Given the description of an element on the screen output the (x, y) to click on. 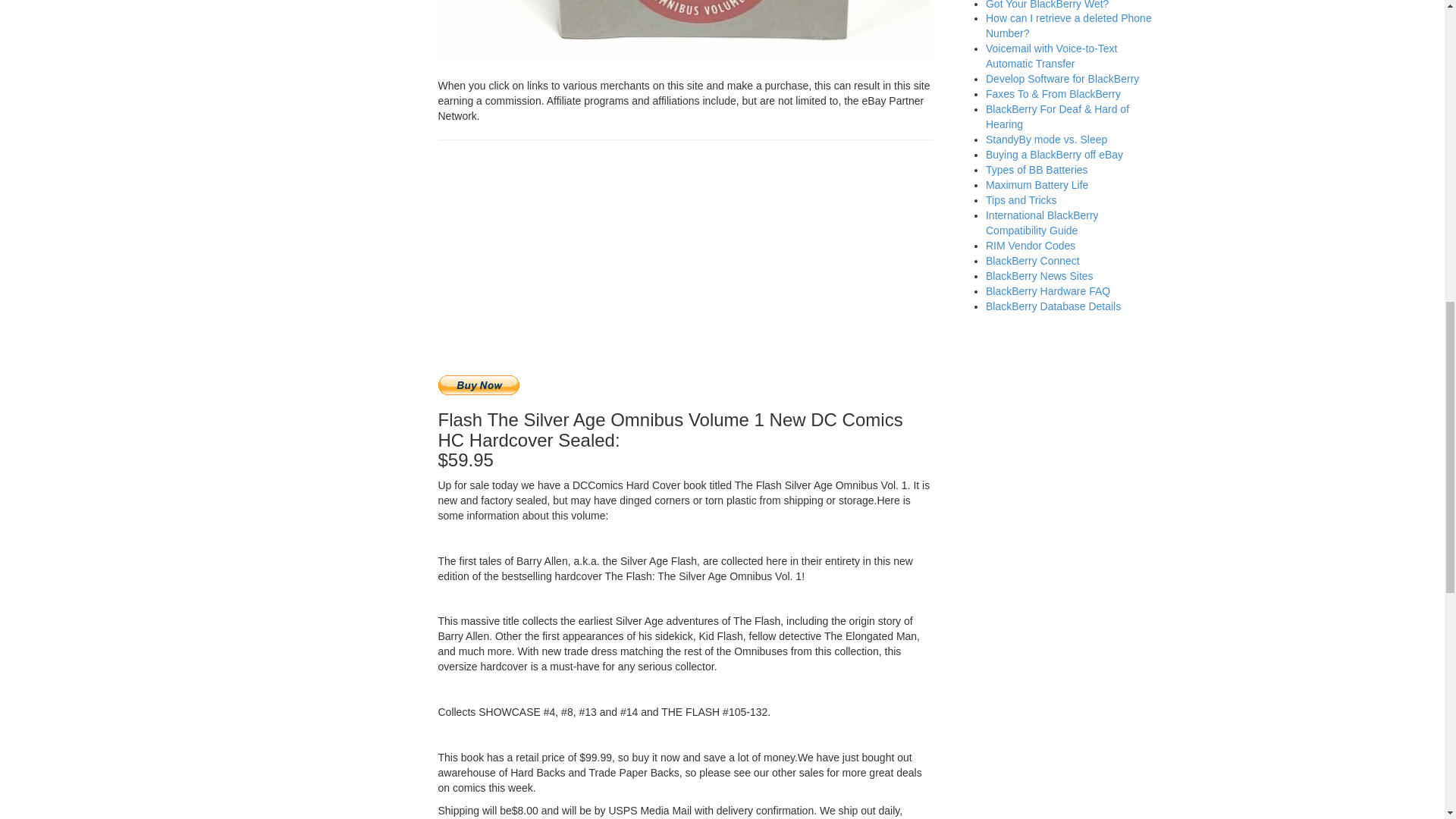
Advertisement (685, 261)
Buy Now (478, 384)
